Given the description of an element on the screen output the (x, y) to click on. 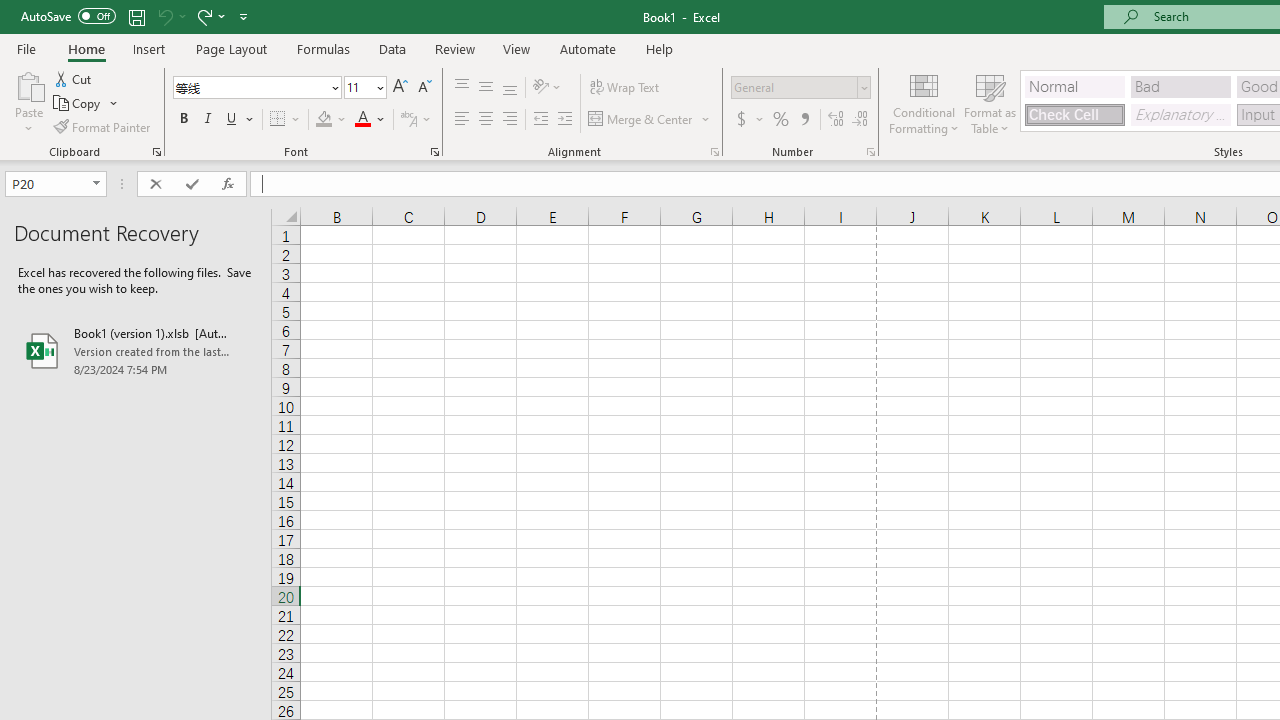
File Tab (26, 48)
Paste (28, 102)
AutoSave (68, 16)
Office Clipboard... (156, 151)
Save (136, 15)
Comma Style (804, 119)
Format Cell Alignment (714, 151)
Home (86, 48)
Wrap Text (624, 87)
Number Format (800, 87)
Center (485, 119)
Font (250, 87)
Merge & Center (641, 119)
